Given the description of an element on the screen output the (x, y) to click on. 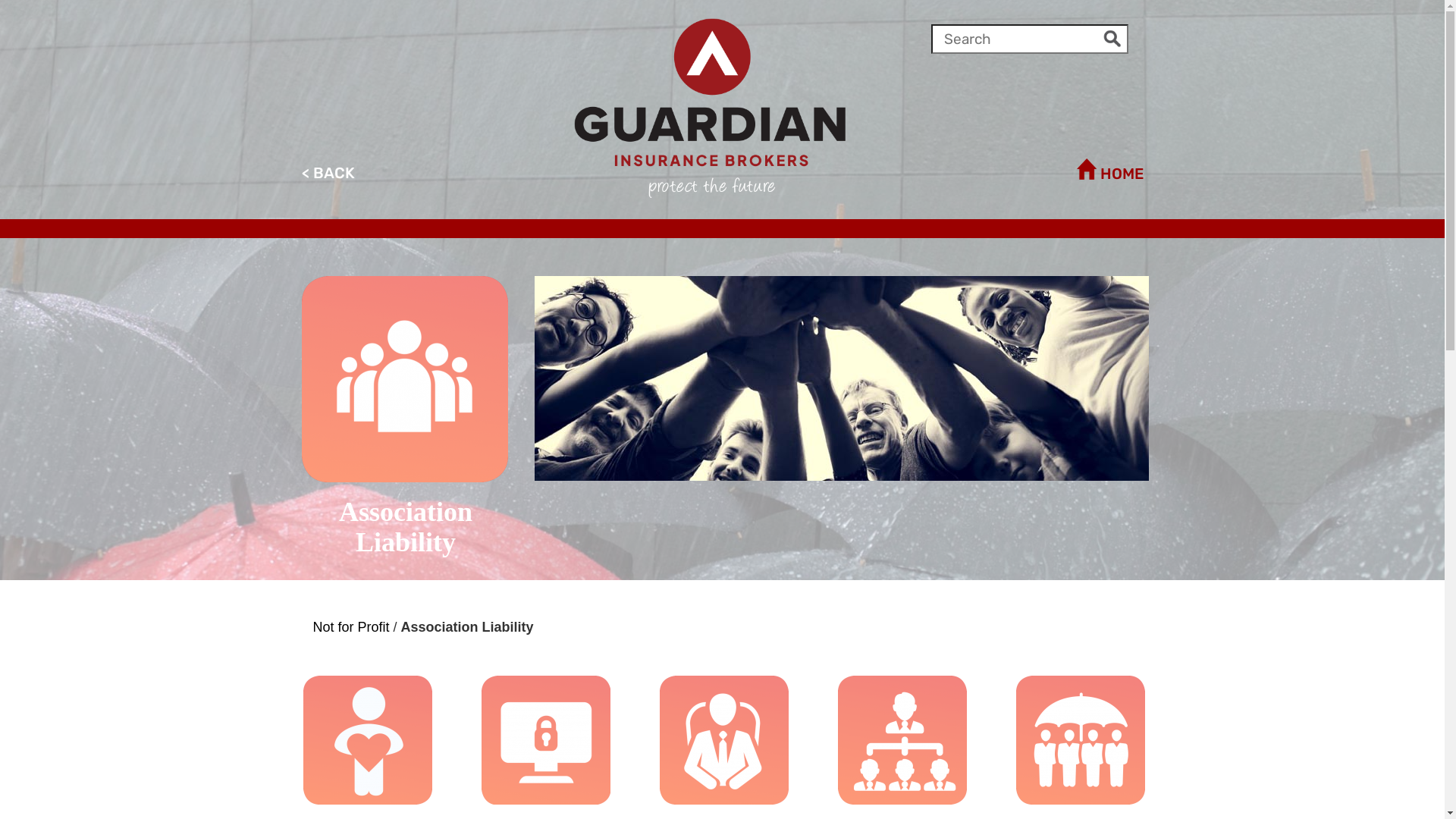
Not for Profit Element type: text (350, 626)
HOME Element type: text (938, 170)
< BACK Element type: text (506, 172)
